Given the description of an element on the screen output the (x, y) to click on. 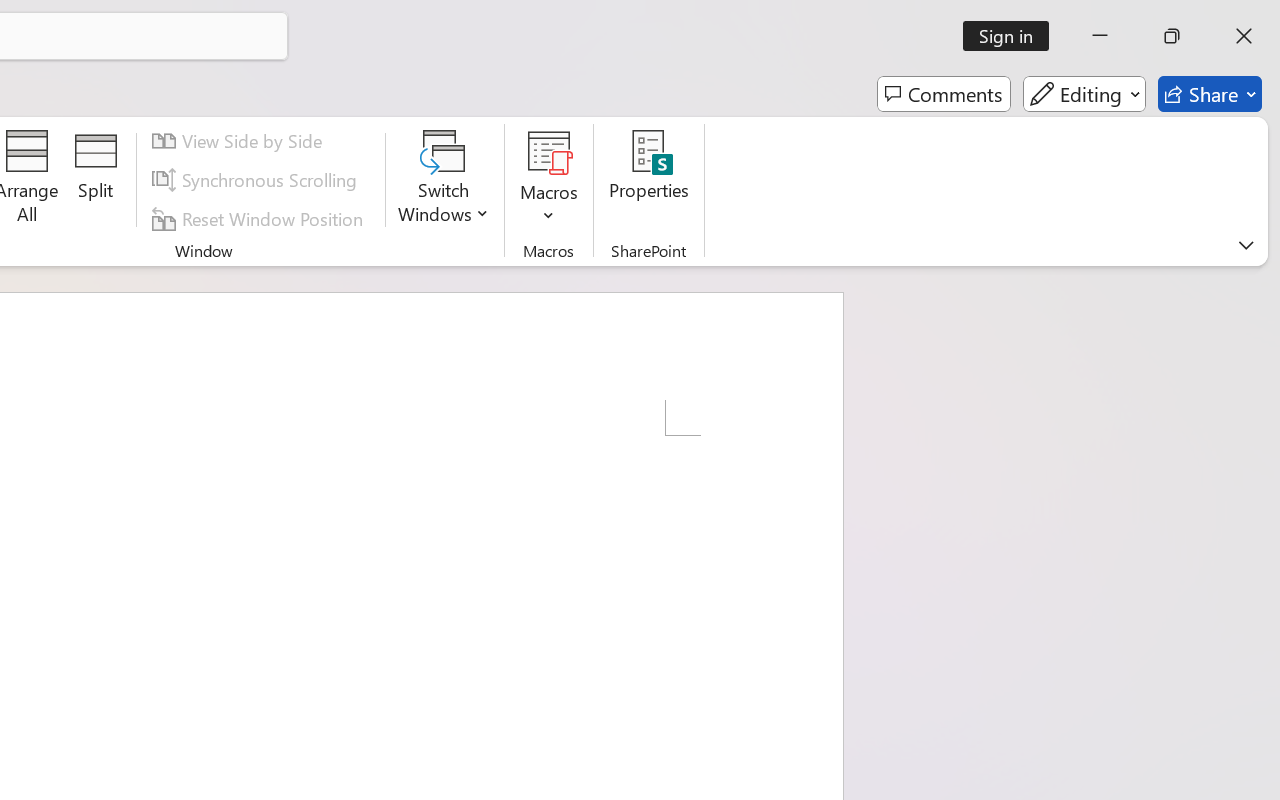
Macros (549, 179)
